Given the description of an element on the screen output the (x, y) to click on. 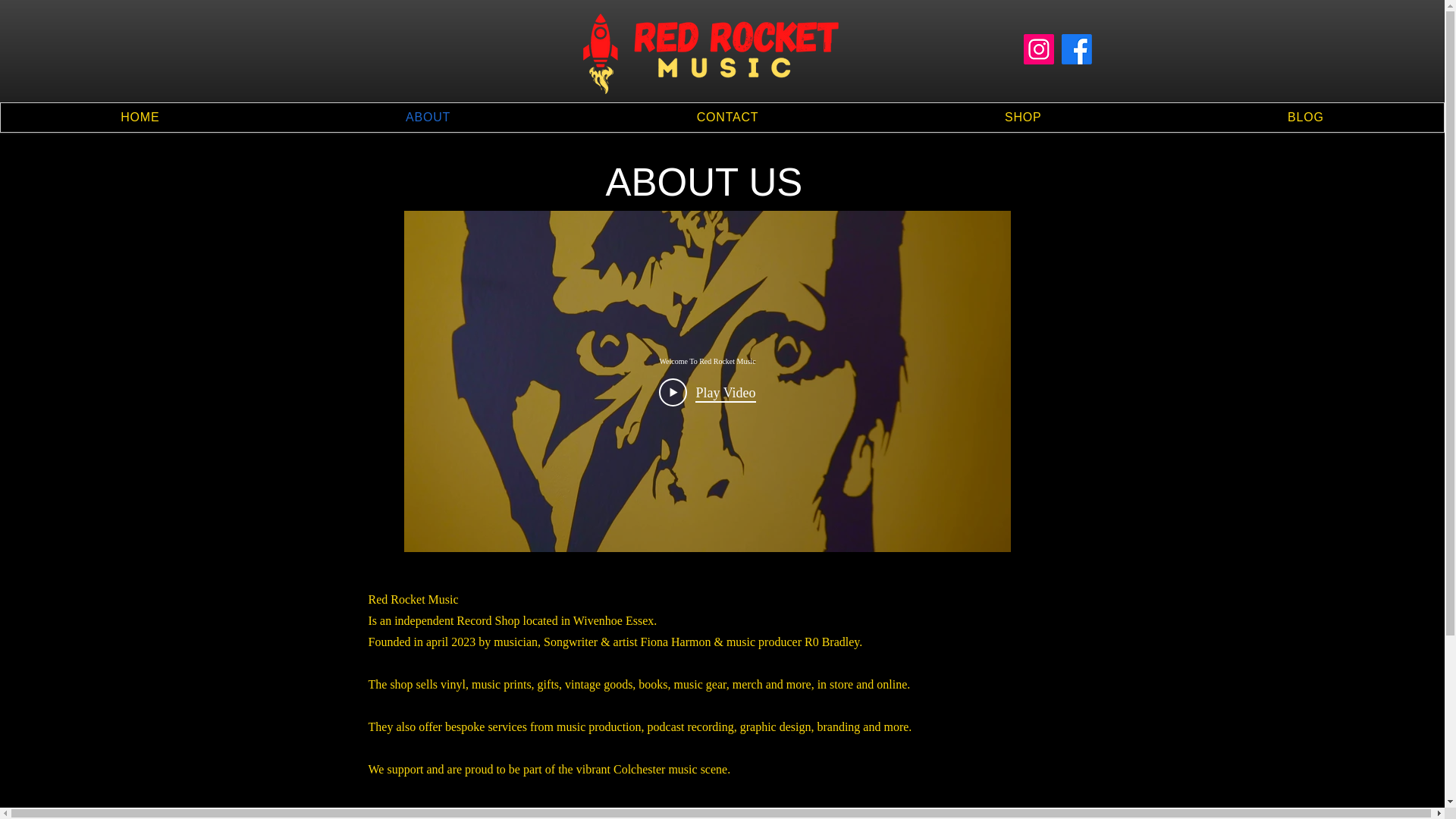
HOME (140, 117)
SHOP (1023, 117)
Welcome To Red Rocket Music (706, 360)
CONTACT (726, 117)
ABOUT (427, 117)
BLOG (1305, 117)
